Given the description of an element on the screen output the (x, y) to click on. 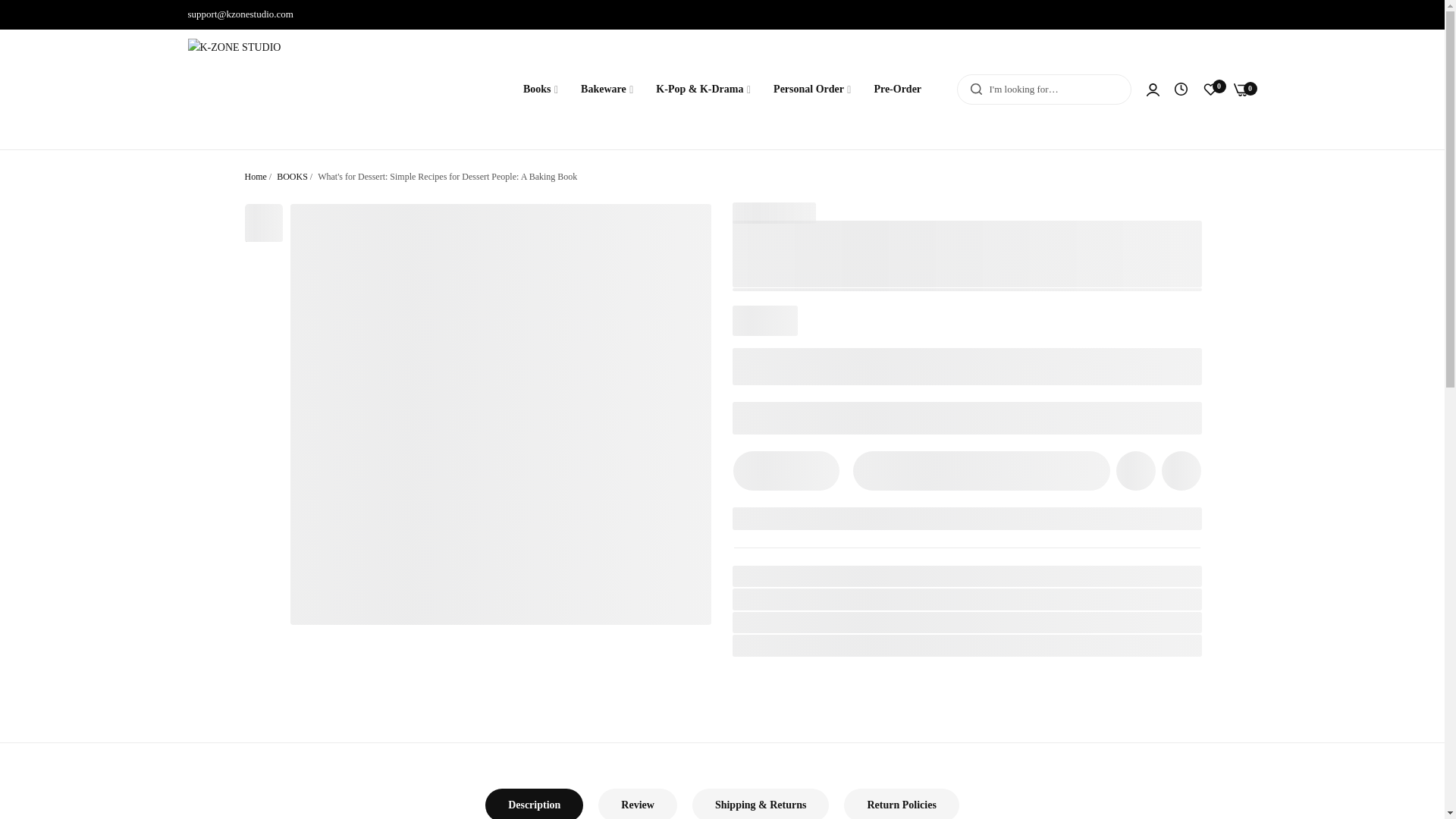
K-ZONE STUDIO (836, 622)
Minus (753, 470)
1 (786, 470)
Zoom in (679, 234)
Bakeware (607, 89)
K-ZONE STUDIO (272, 89)
Pre-Order (897, 89)
Personal Order (811, 89)
Plus (818, 470)
Books (540, 89)
